Given the description of an element on the screen output the (x, y) to click on. 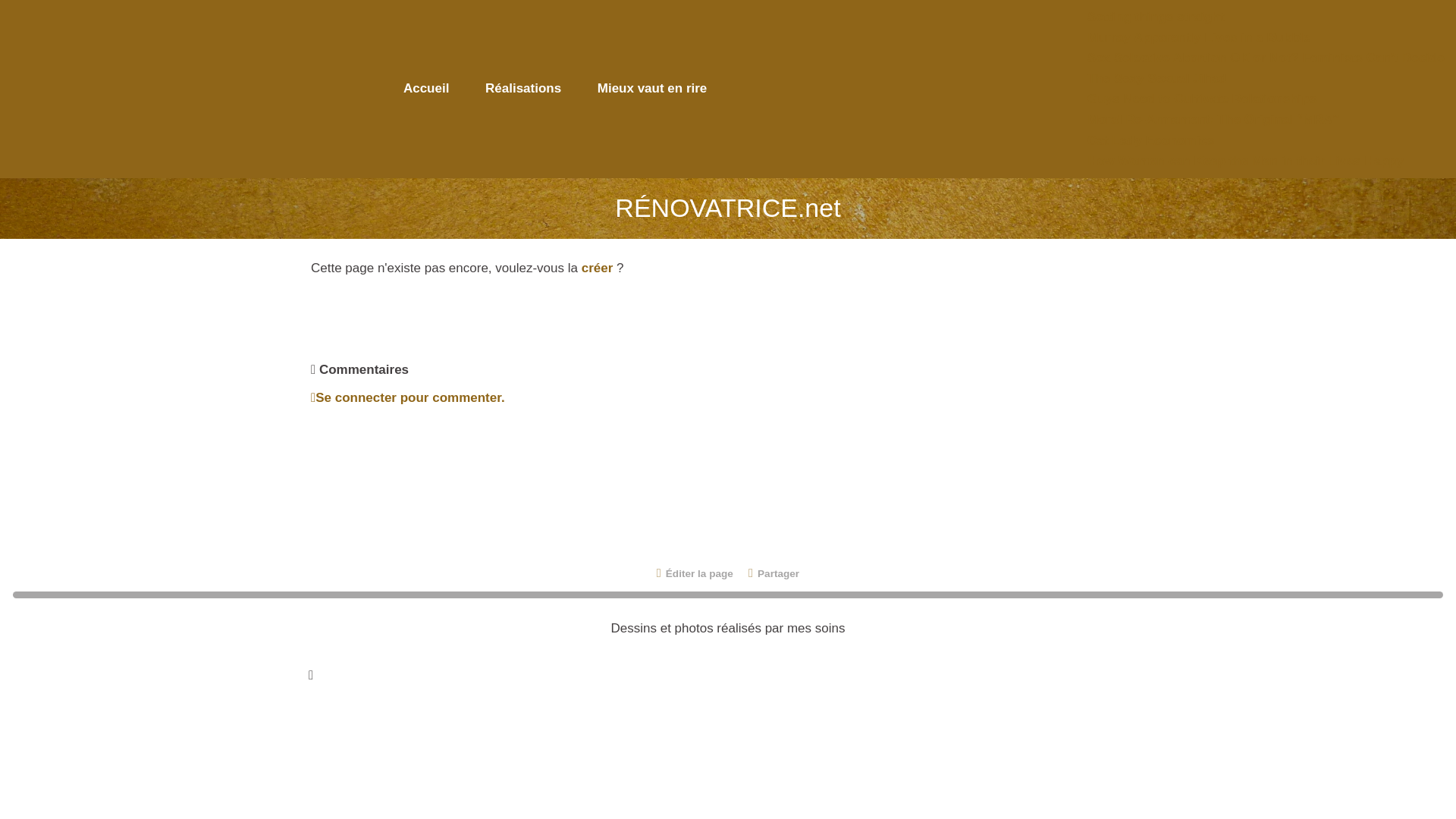
Partager (773, 573)
Setting things straight (1155, 16)
Accueil (426, 89)
Mieux vaut en rire (652, 89)
Guys Need to Cultivate Relationships (1201, 98)
Murray Apparently Lives in a Bubble (1198, 37)
Se connecter pour commenter. (408, 397)
The Sexy Sexual Jihad (1156, 78)
Cat Lady Economics (1150, 140)
How Women can Keep the Men in their Lives Happy (1245, 160)
